Given the description of an element on the screen output the (x, y) to click on. 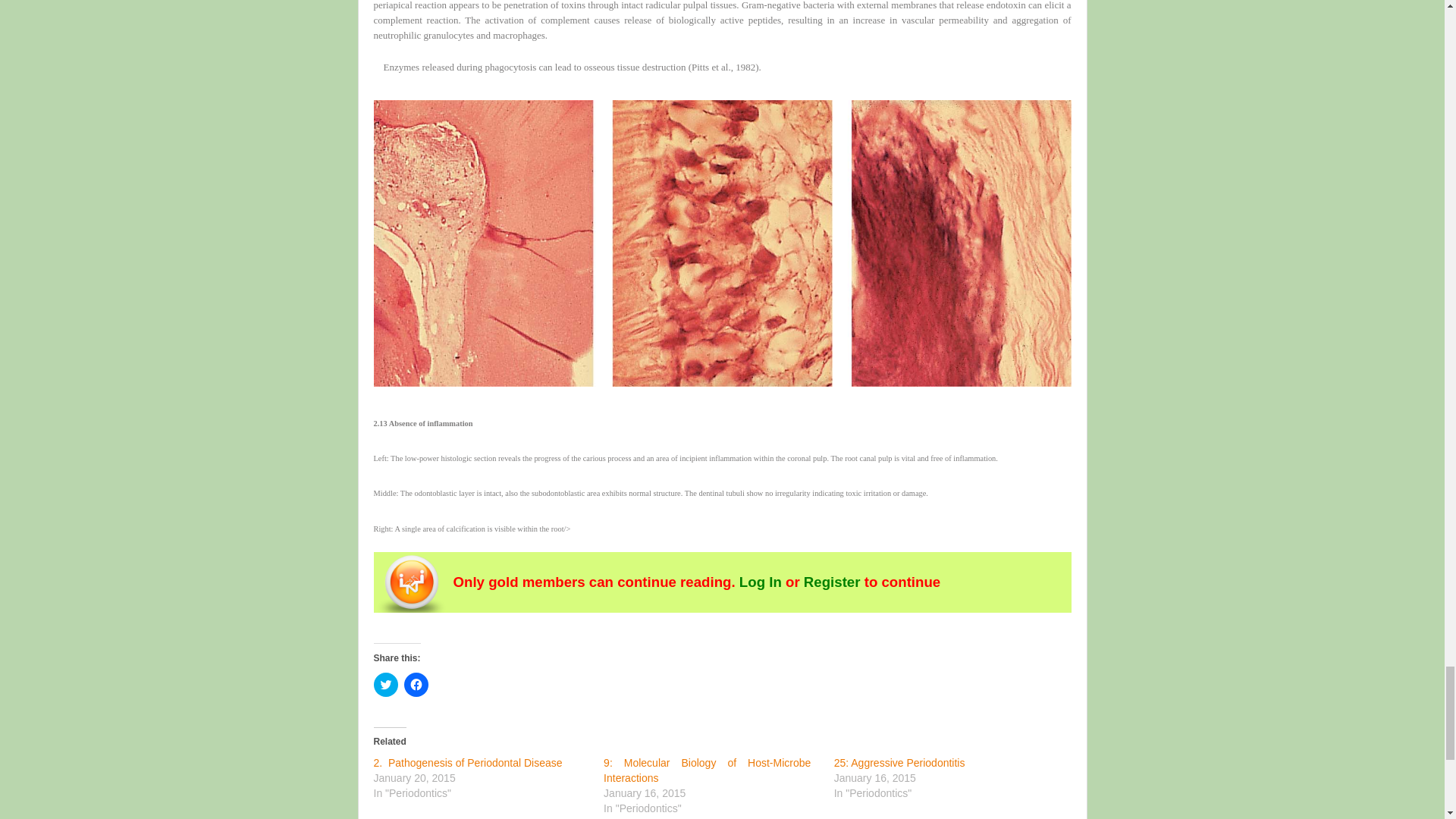
Click to share on Twitter (384, 684)
25: Aggressive Periodontitis (899, 762)
Click to share on Facebook (415, 684)
9: Molecular Biology of Host-Microbe Interactions (707, 769)
